Given the description of an element on the screen output the (x, y) to click on. 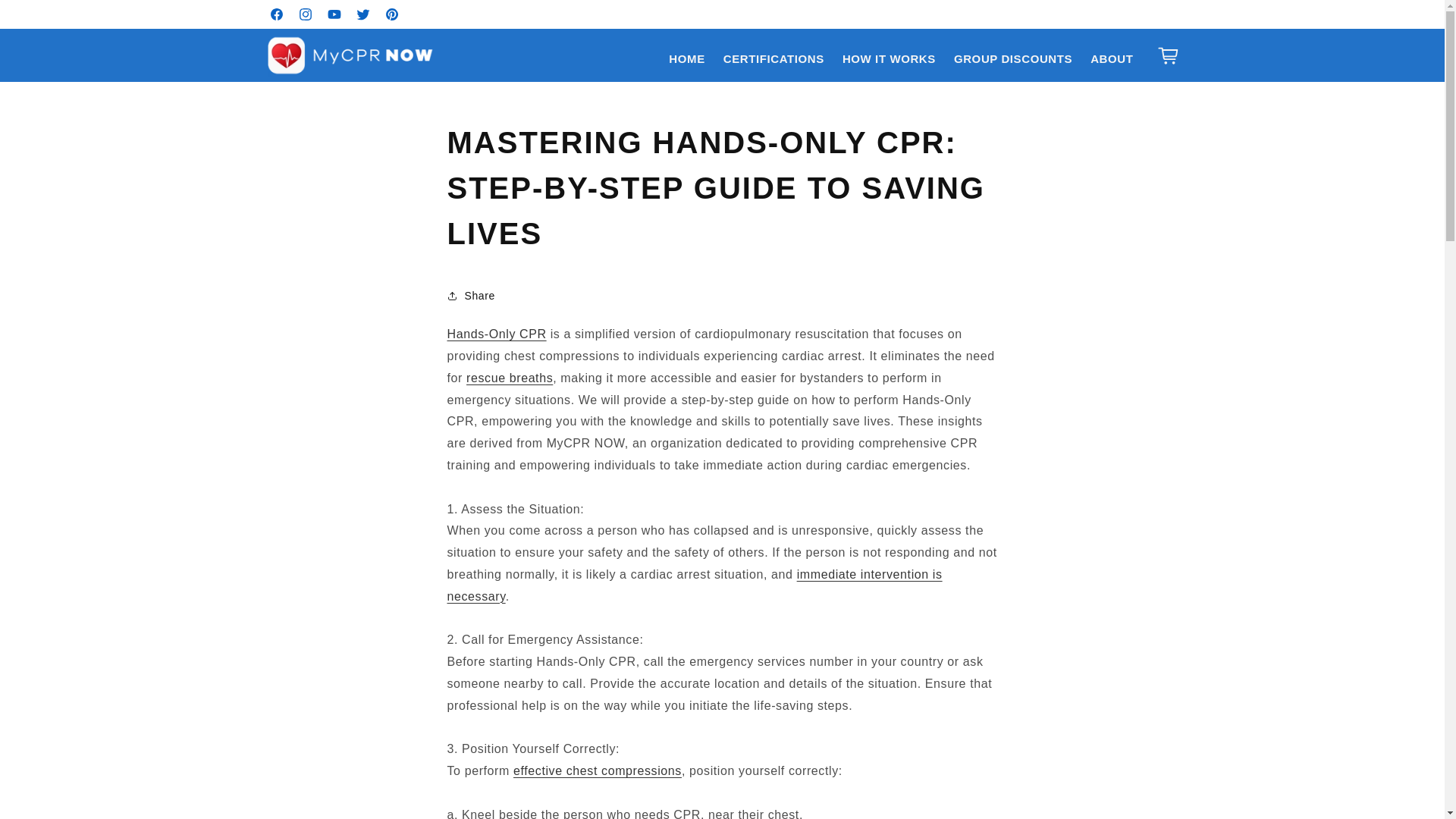
HOW IT WORKS (888, 59)
rescue breaths (509, 377)
immediate intervention is necessary (694, 585)
GROUP DISCOUNTS (1012, 59)
Hands-Only CPR (496, 333)
CPR Certification (496, 333)
CERTIFICATIONS (773, 59)
Pinterest (391, 14)
YouTube (334, 14)
Skip to content (45, 17)
